Given the description of an element on the screen output the (x, y) to click on. 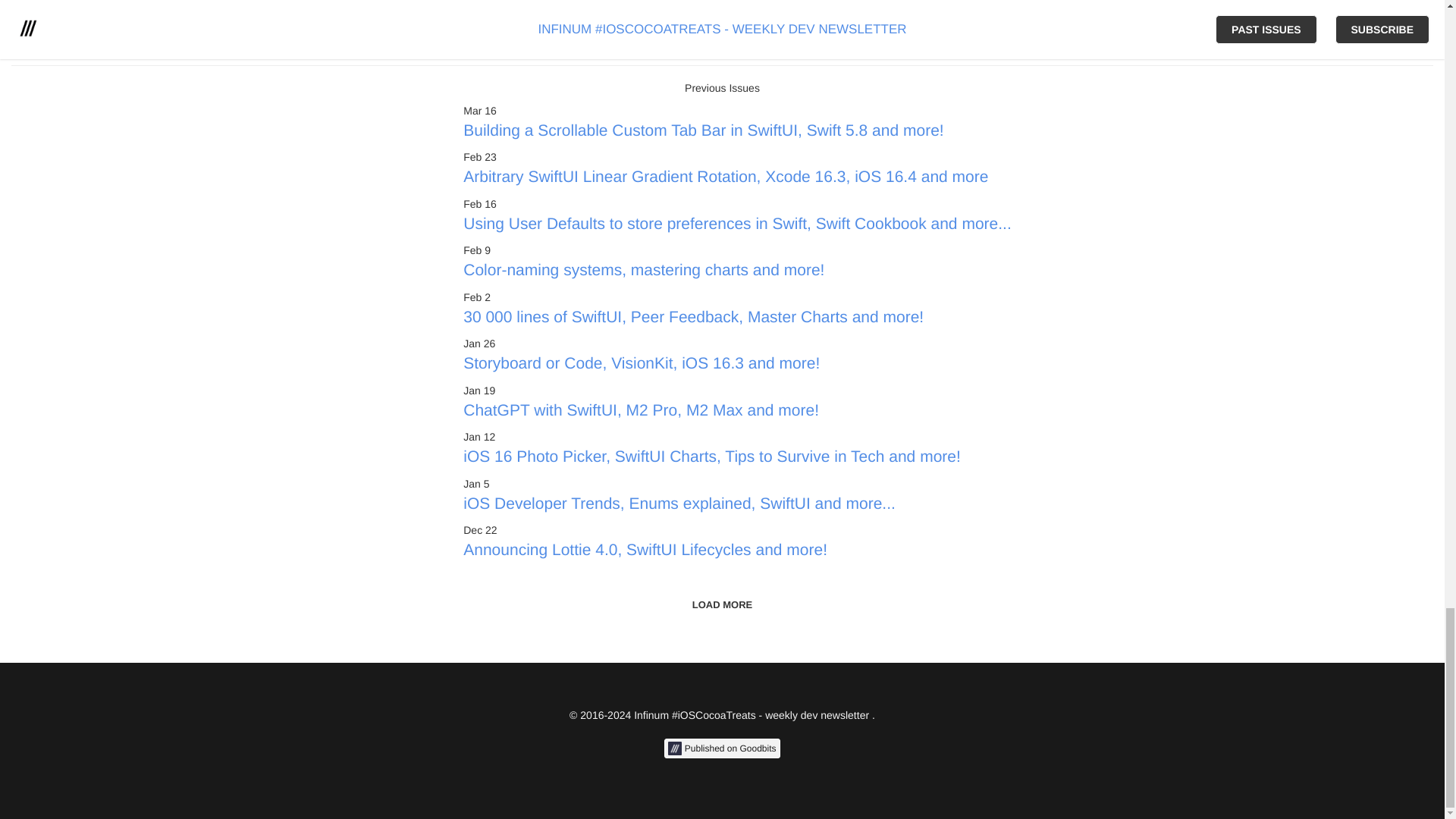
Announcing Lottie 4.0, SwiftUI Lifecycles and more! (736, 557)
Storyboard or Code, VisionKit, iOS 16.3 and more! (736, 370)
Easy, email newsletters in minutes. (720, 748)
Color-naming systems, mastering charts and more! (736, 277)
iOS Developer Trends, Enums explained, SwiftUI and more... (736, 510)
LOAD MORE (721, 605)
Published on Goodbits (720, 748)
ChatGPT with SwiftUI, M2 Pro, M2 Max and more! (736, 417)
